Given the description of an element on the screen output the (x, y) to click on. 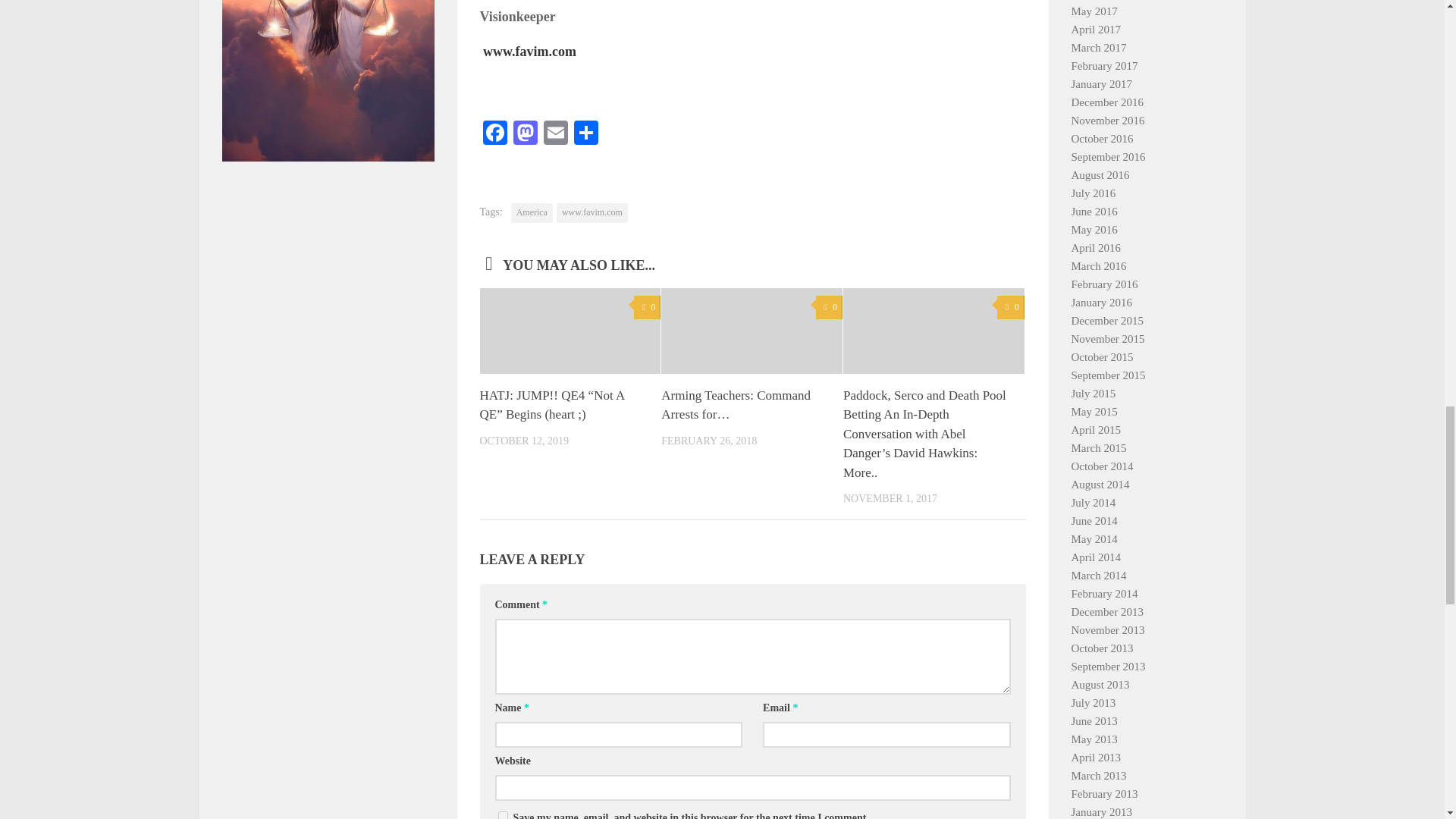
Share (584, 134)
0 (647, 307)
Facebook (494, 134)
Email (555, 134)
Facebook (494, 134)
America (532, 212)
Mastodon (524, 134)
Mastodon (524, 134)
www.favim.com (591, 212)
Email (555, 134)
yes (501, 815)
